Given the description of an element on the screen output the (x, y) to click on. 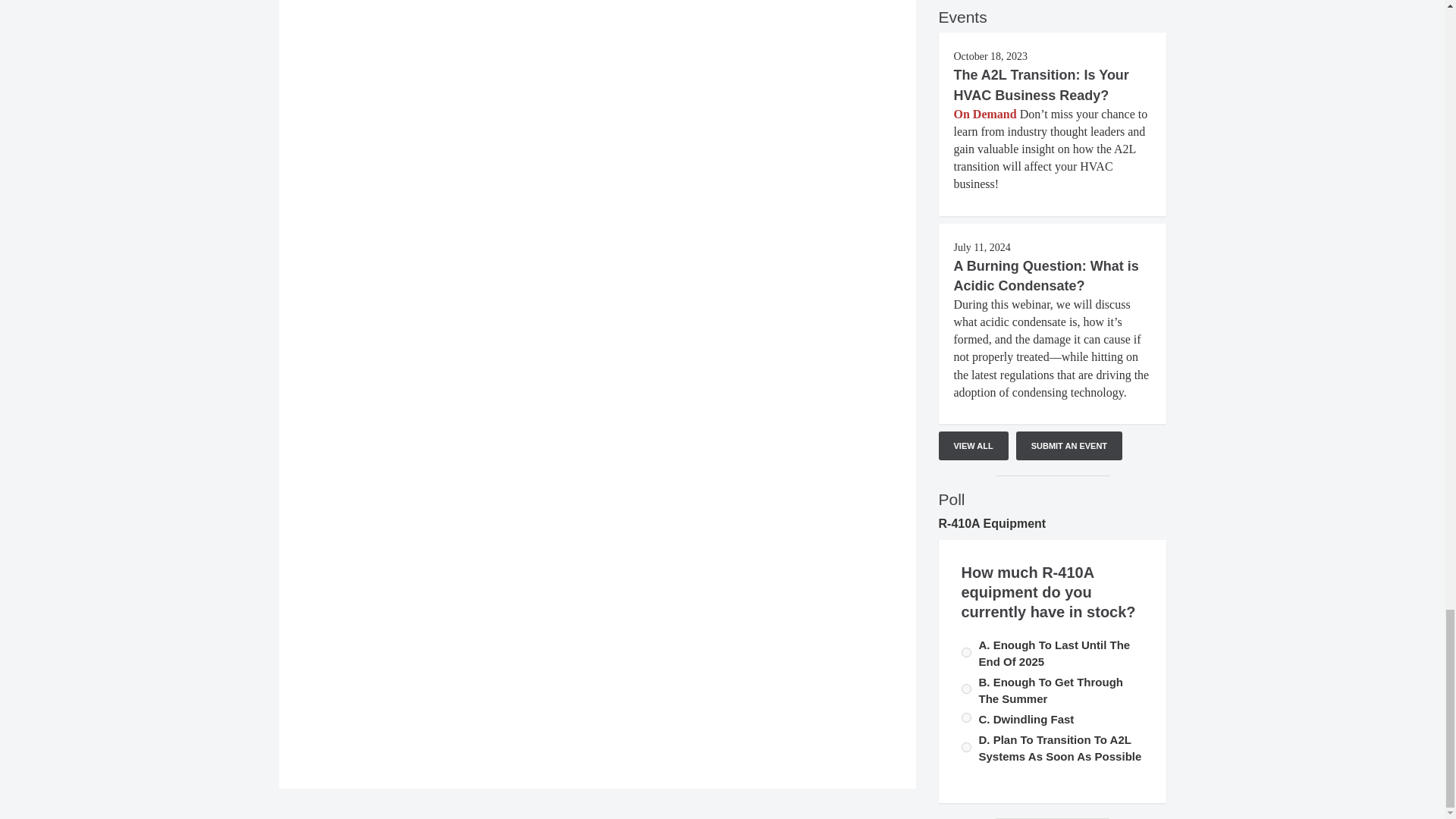
597 (965, 652)
The A2L Transition: Is Your HVAC Business Ready? (1041, 84)
598 (965, 717)
A Burning Question: What is Acidic Condensate? (1045, 275)
599 (965, 747)
596 (965, 688)
